Given the description of an element on the screen output the (x, y) to click on. 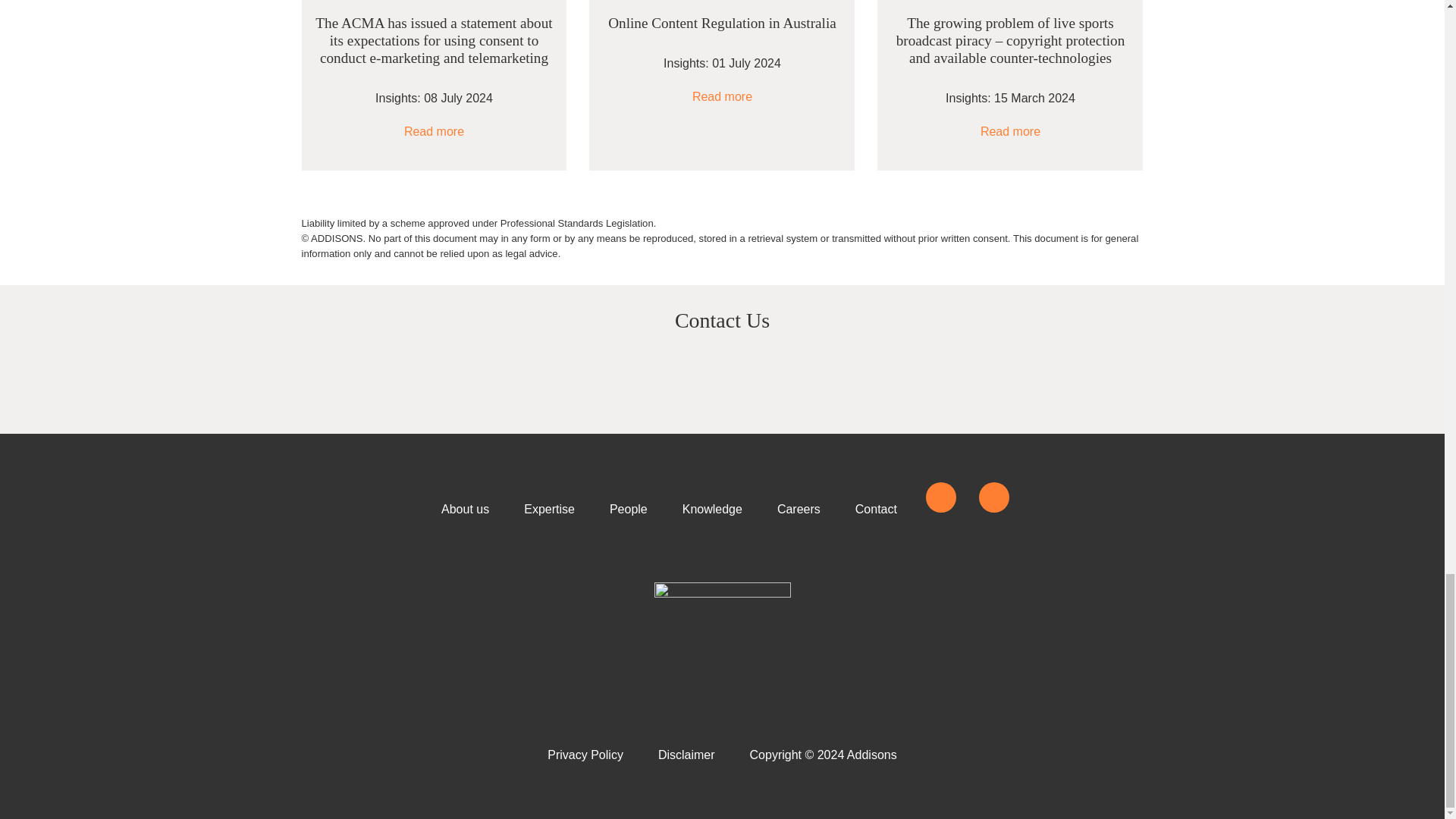
Disclaimer (686, 755)
Read more (433, 132)
Online Content Regulation in Australia (721, 23)
Read more (721, 96)
Read more (1010, 132)
Privacy Policy (584, 755)
Knowledge (712, 509)
Expertise (549, 509)
About us (465, 509)
Careers (799, 509)
People (628, 509)
Contact (875, 509)
